Given the description of an element on the screen output the (x, y) to click on. 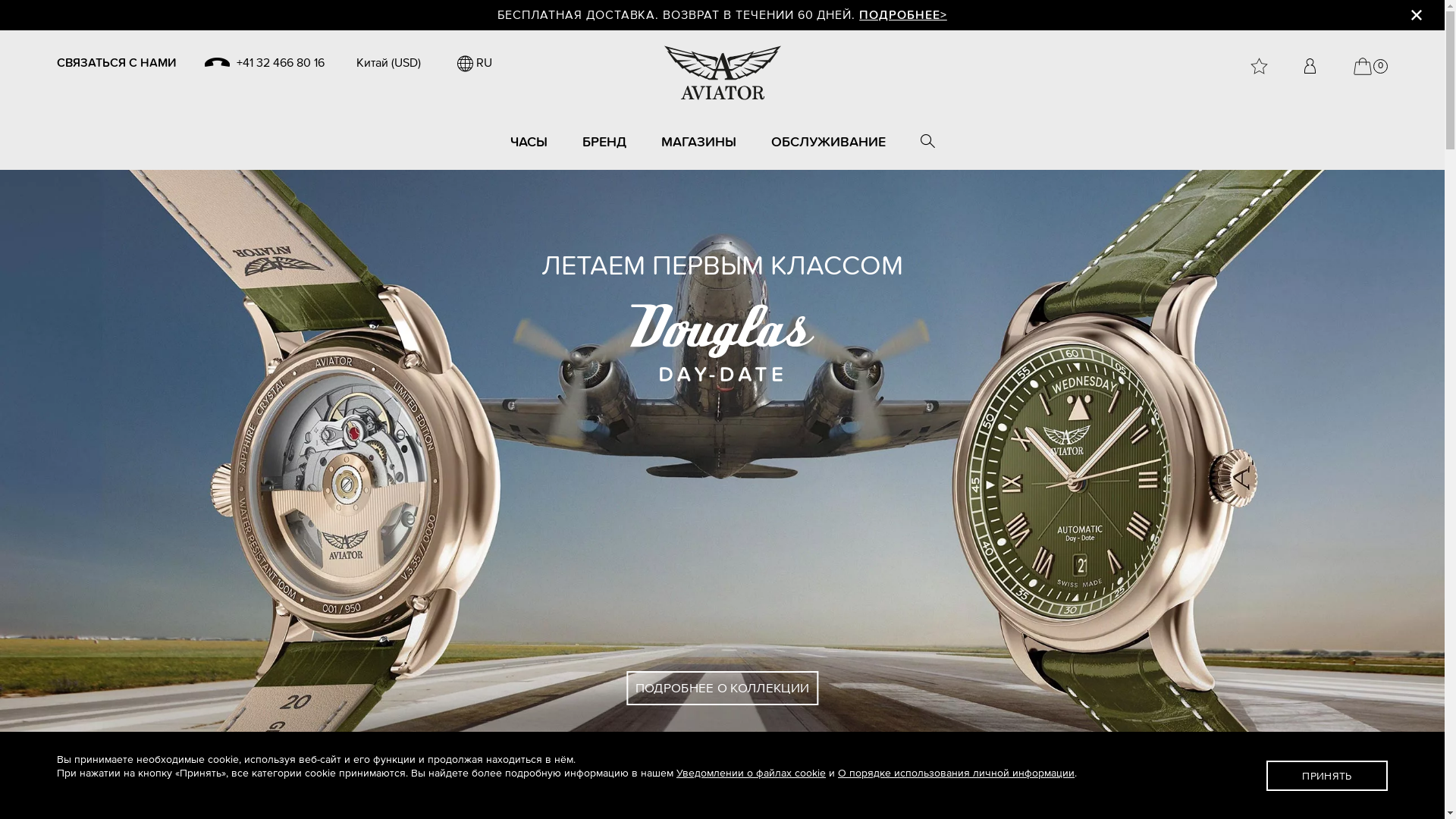
+41 32 466 80 16 Element type: text (264, 62)
1 Element type: text (689, 781)
5 Element type: text (740, 781)
4 Element type: text (728, 781)
0 Element type: text (1370, 66)
2 Element type: text (703, 781)
3 Element type: text (715, 781)
RU Element type: text (474, 62)
6 Element type: text (754, 781)
